Given the description of an element on the screen output the (x, y) to click on. 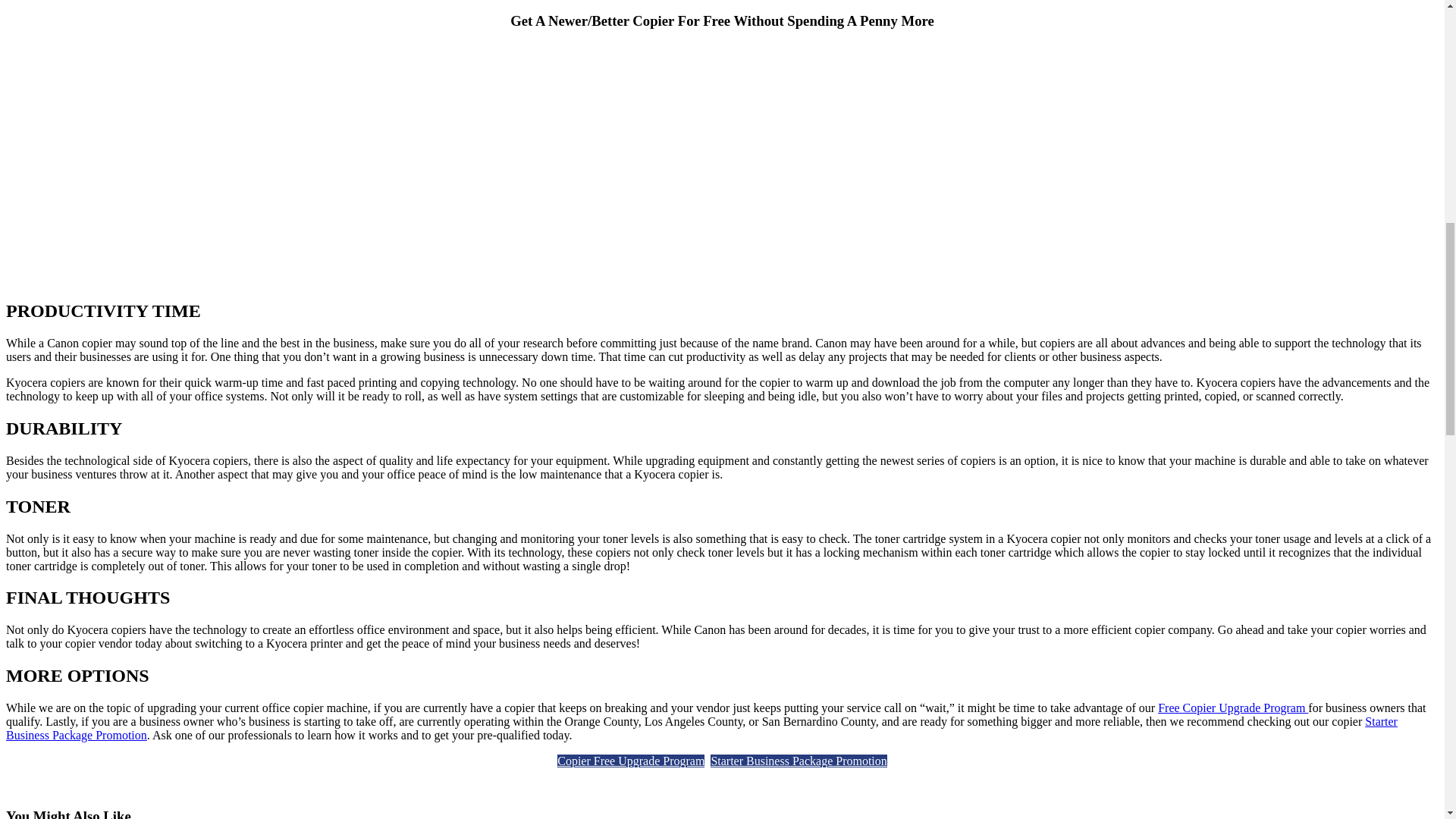
Copier Free Upgrade Program (630, 760)
Free Copier Upgrade Program (1232, 707)
Starter Business Package Promotion (798, 760)
Starter Business Package Promotion (701, 728)
